Given the description of an element on the screen output the (x, y) to click on. 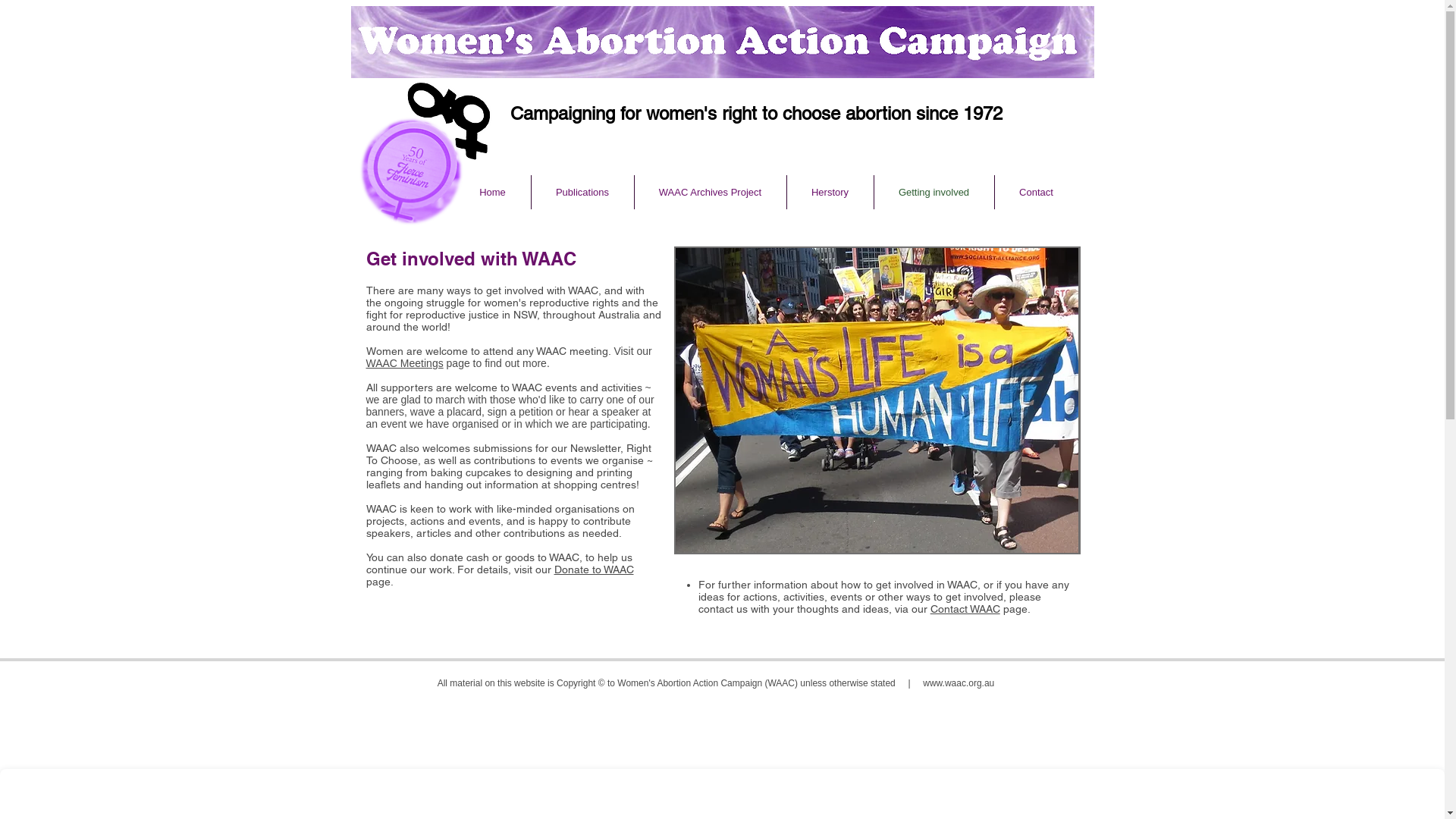
www.waac.org.au Element type: text (958, 682)
WAAC Meetings Element type: text (403, 363)
Publications Element type: text (581, 192)
Contact WAAC Element type: text (965, 608)
Home Element type: text (492, 192)
Donate to WAAC Element type: text (593, 569)
Herstory Element type: text (830, 192)
waac logo b&w.png Element type: hover (448, 120)
Getting involved Element type: text (933, 192)
Home Page Strap.png Element type: hover (721, 42)
WAAC Archives Project Element type: text (709, 192)
Contact Element type: text (1036, 192)
